Given the description of an element on the screen output the (x, y) to click on. 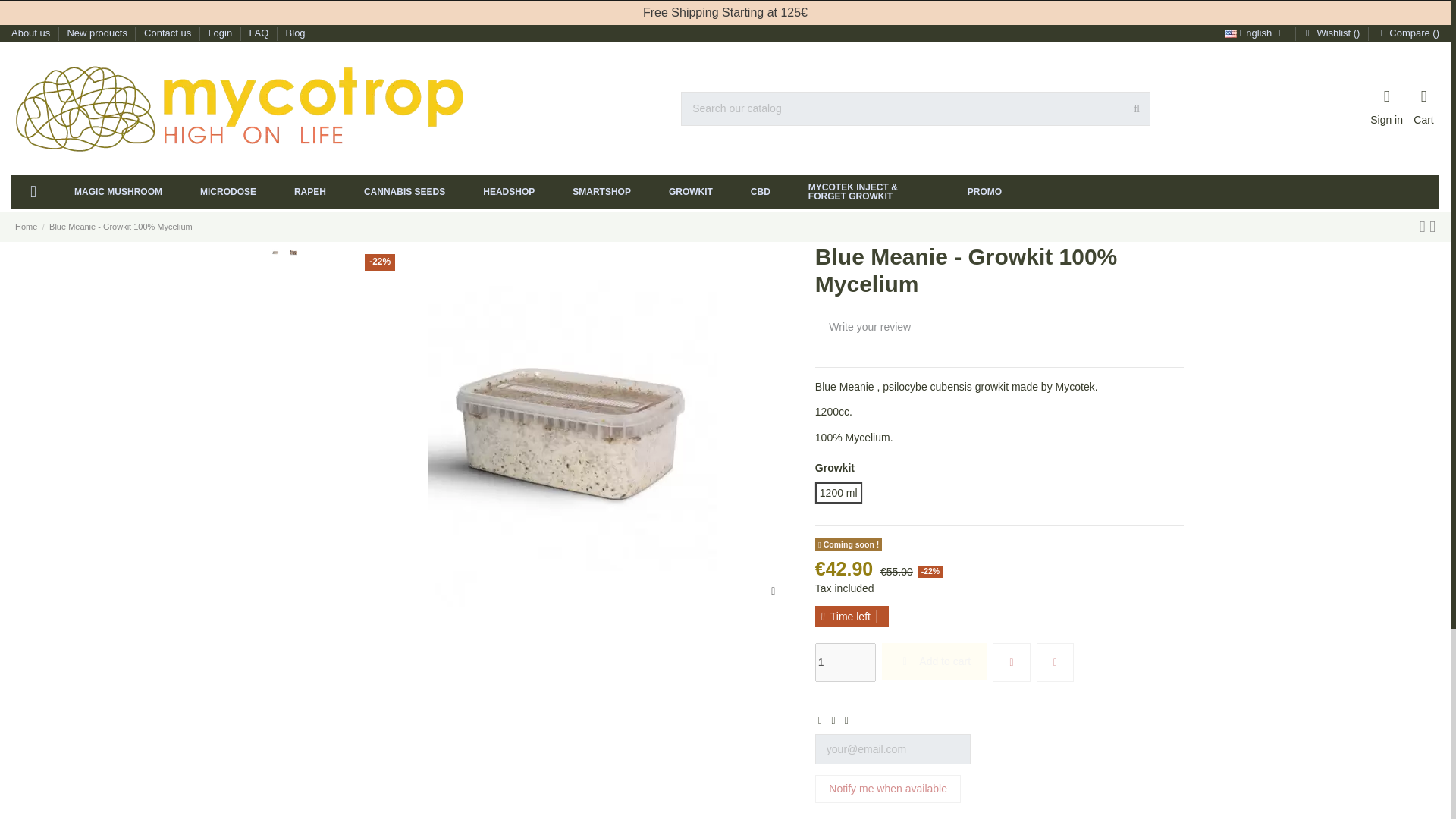
PROMO (984, 192)
English (1255, 32)
FAQ (259, 32)
Learn more about us (36, 605)
Our terms and conditions of use (81, 647)
MAGIC MUSHROOM (117, 192)
Add to compare (1055, 661)
1 (845, 661)
Use our form to contact us (168, 32)
SMARTSHOP (601, 192)
